Given the description of an element on the screen output the (x, y) to click on. 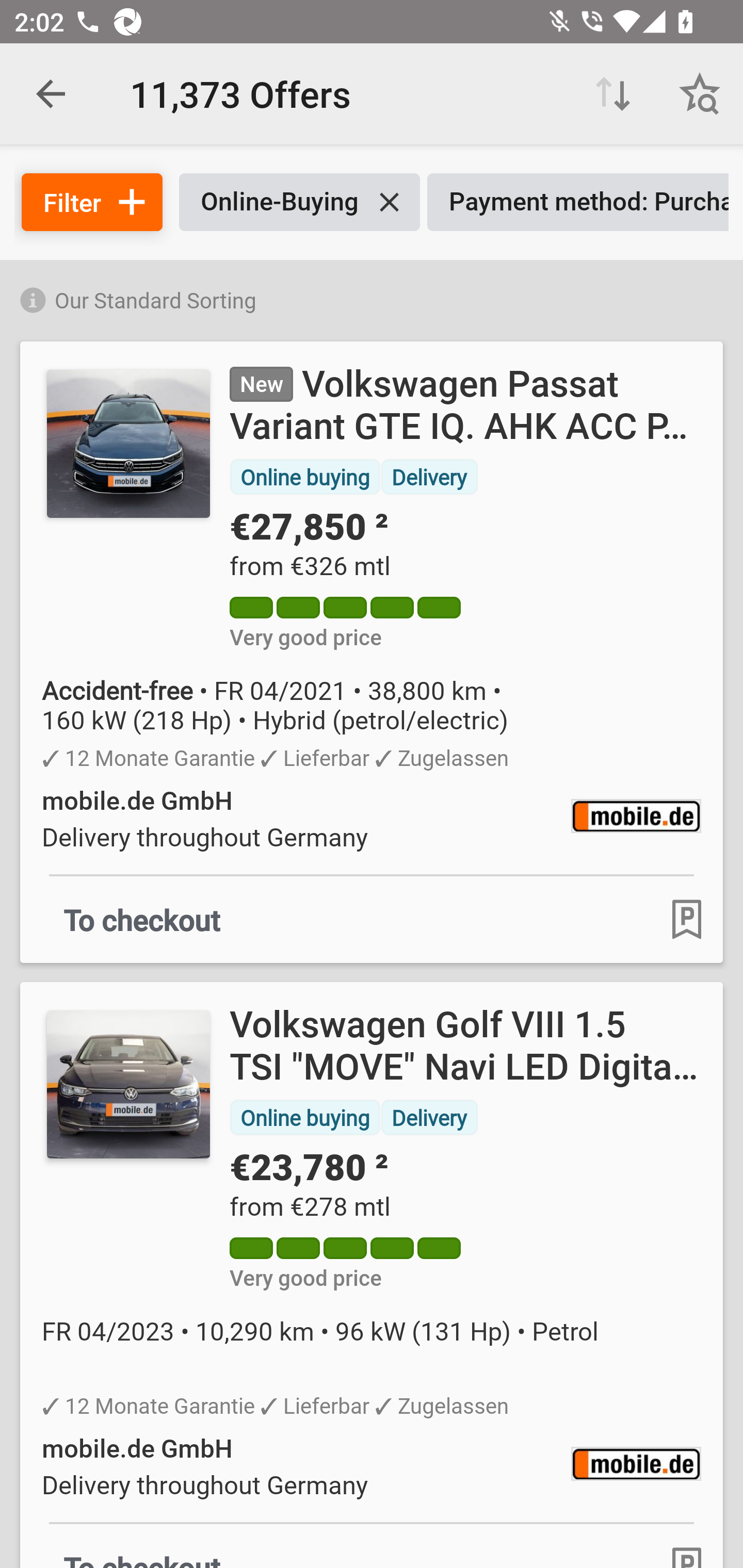
Navigate up (50, 93)
Sort options (612, 93)
Save search (699, 93)
Online-Buying Remove Online-Buying (299, 202)
Payment method: Purchase (577, 202)
Filter (91, 202)
Our Standard Sorting (371, 296)
To checkout (142, 919)
